Given the description of an element on the screen output the (x, y) to click on. 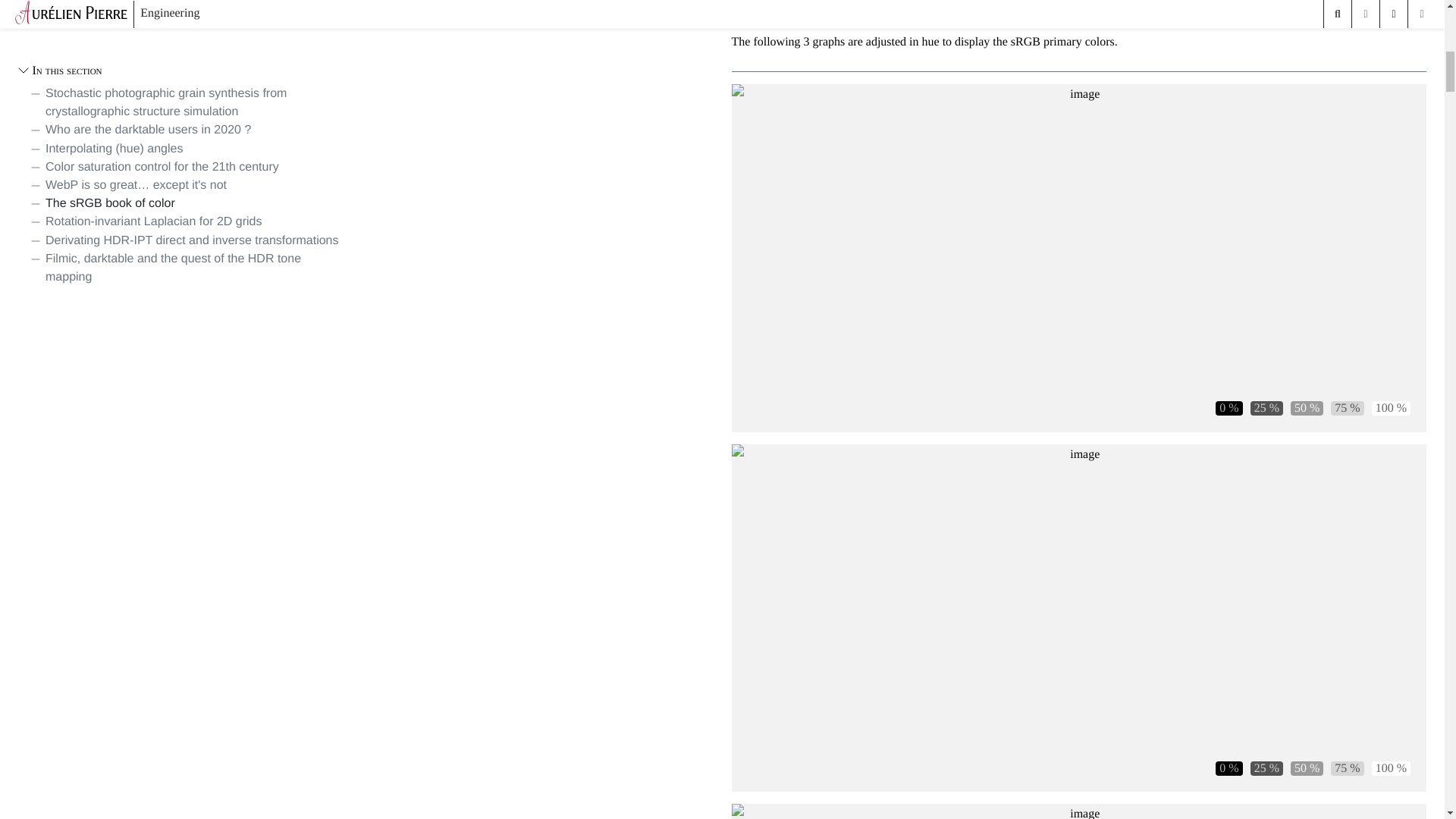
change background color (1346, 408)
change background color (1390, 768)
change background color (1306, 408)
change background color (1306, 768)
change background color (1266, 768)
change background color (1228, 768)
change background color (1346, 768)
change background color (1228, 408)
change background color (1390, 408)
change background color (1266, 408)
